Given the description of an element on the screen output the (x, y) to click on. 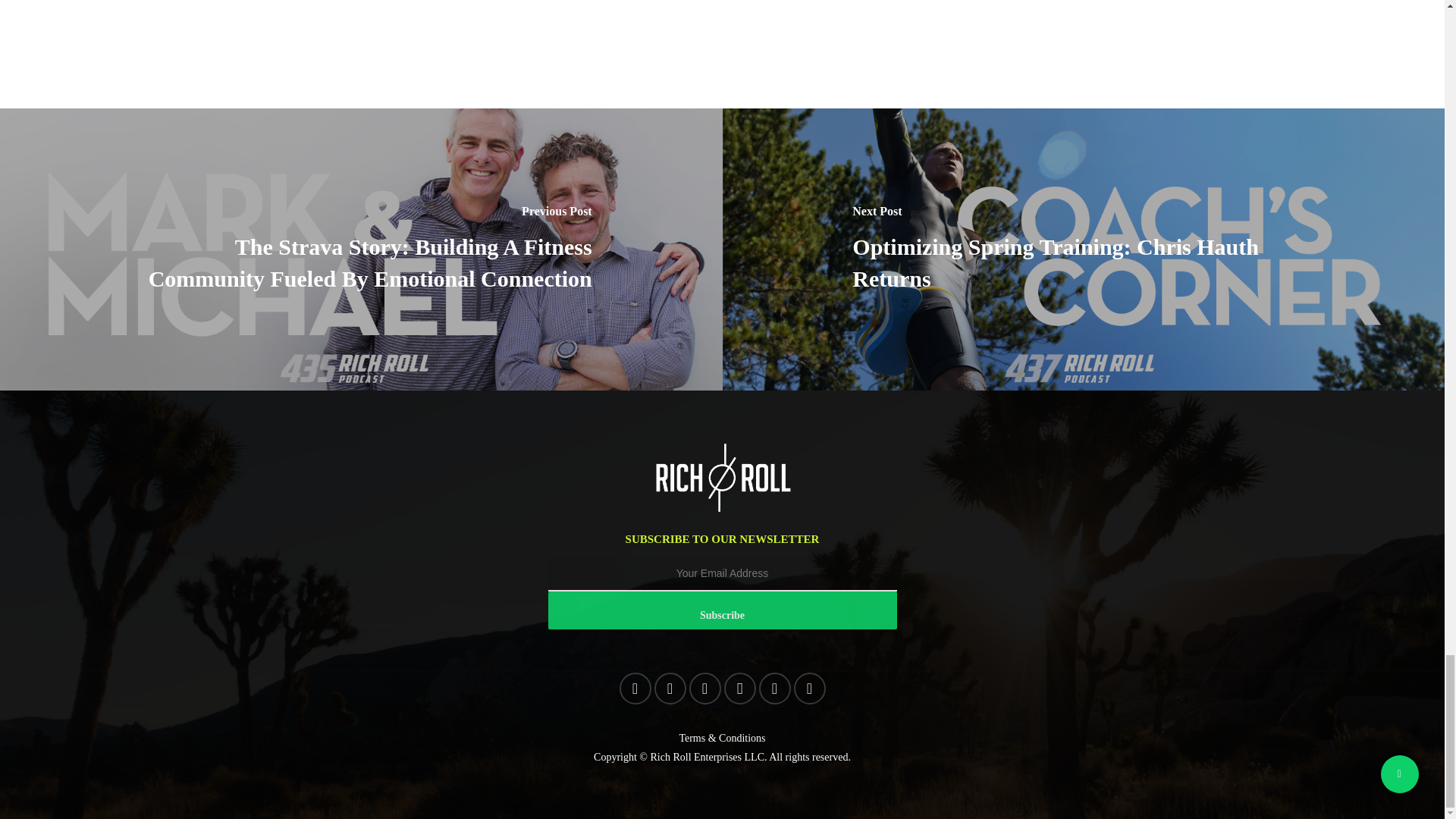
Subscribe (721, 610)
